Given the description of an element on the screen output the (x, y) to click on. 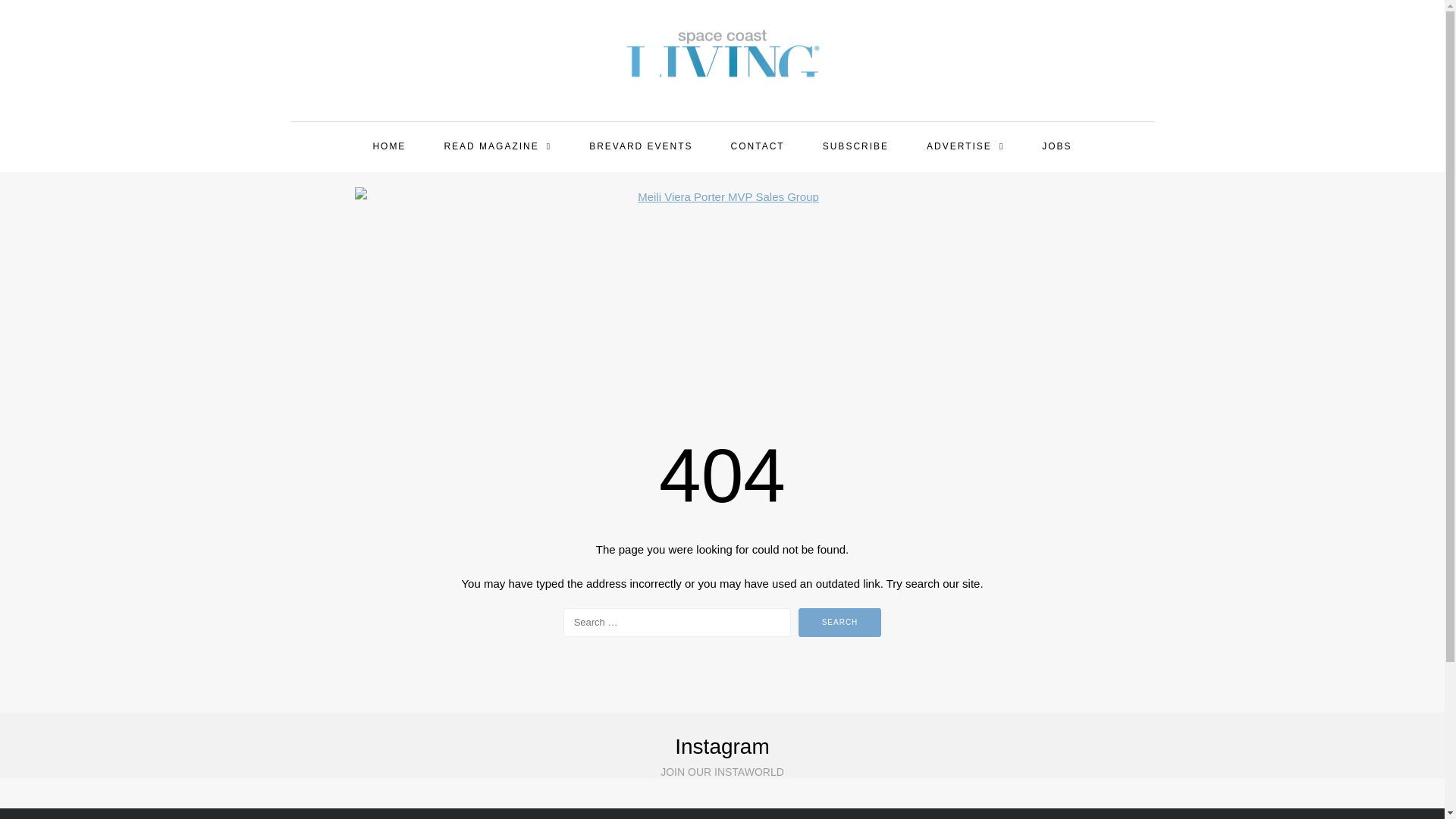
ADVERTISE (965, 146)
Search (839, 622)
CONTACT (757, 146)
Search (839, 622)
READ MAGAZINE (496, 146)
BREVARD EVENTS (640, 146)
JOBS (1056, 146)
HOME (388, 146)
SUBSCRIBE (855, 146)
